Given the description of an element on the screen output the (x, y) to click on. 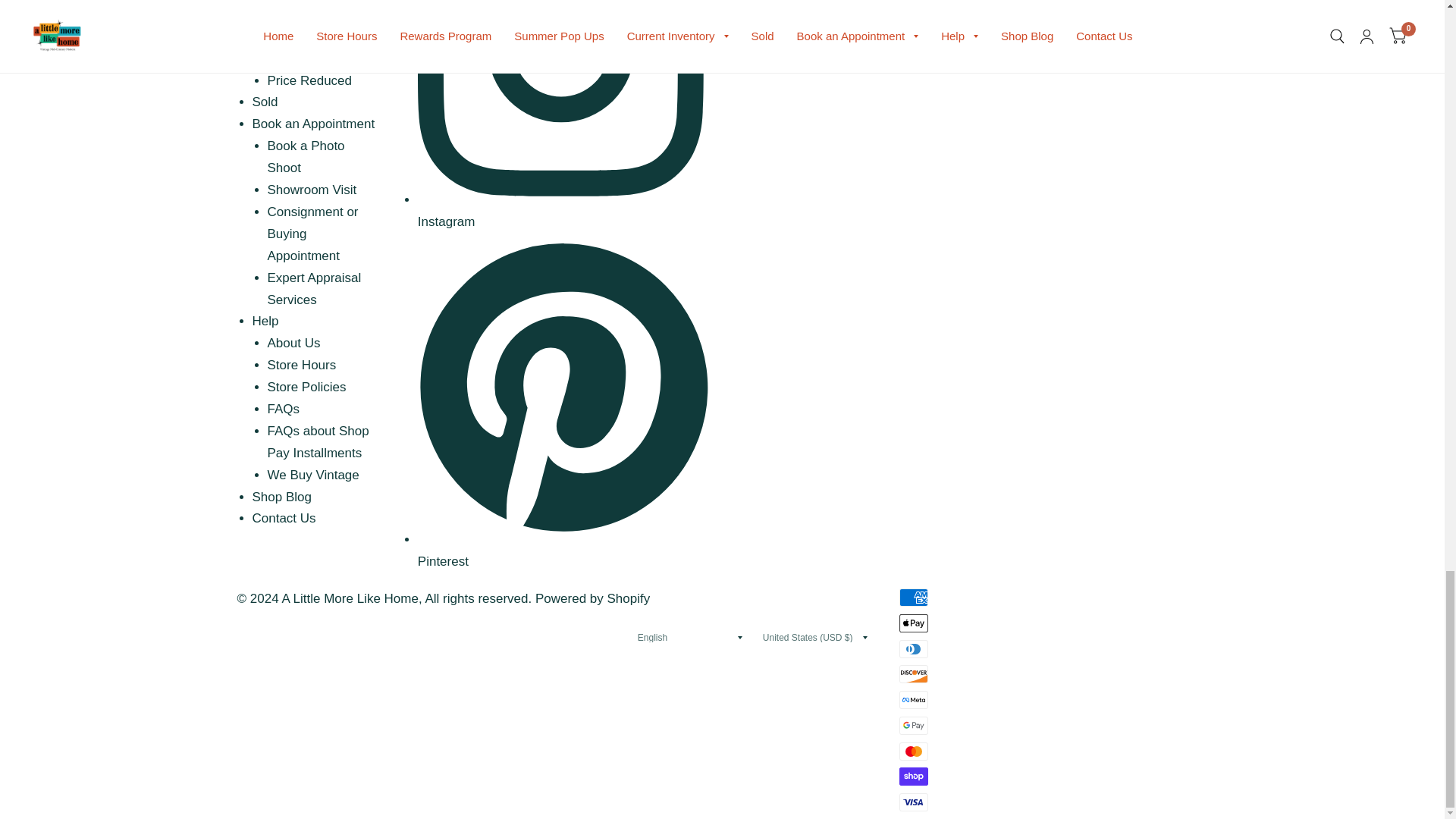
American Express (913, 597)
Diners Club (913, 648)
Apple Pay (913, 623)
Discover (913, 674)
